Given the description of an element on the screen output the (x, y) to click on. 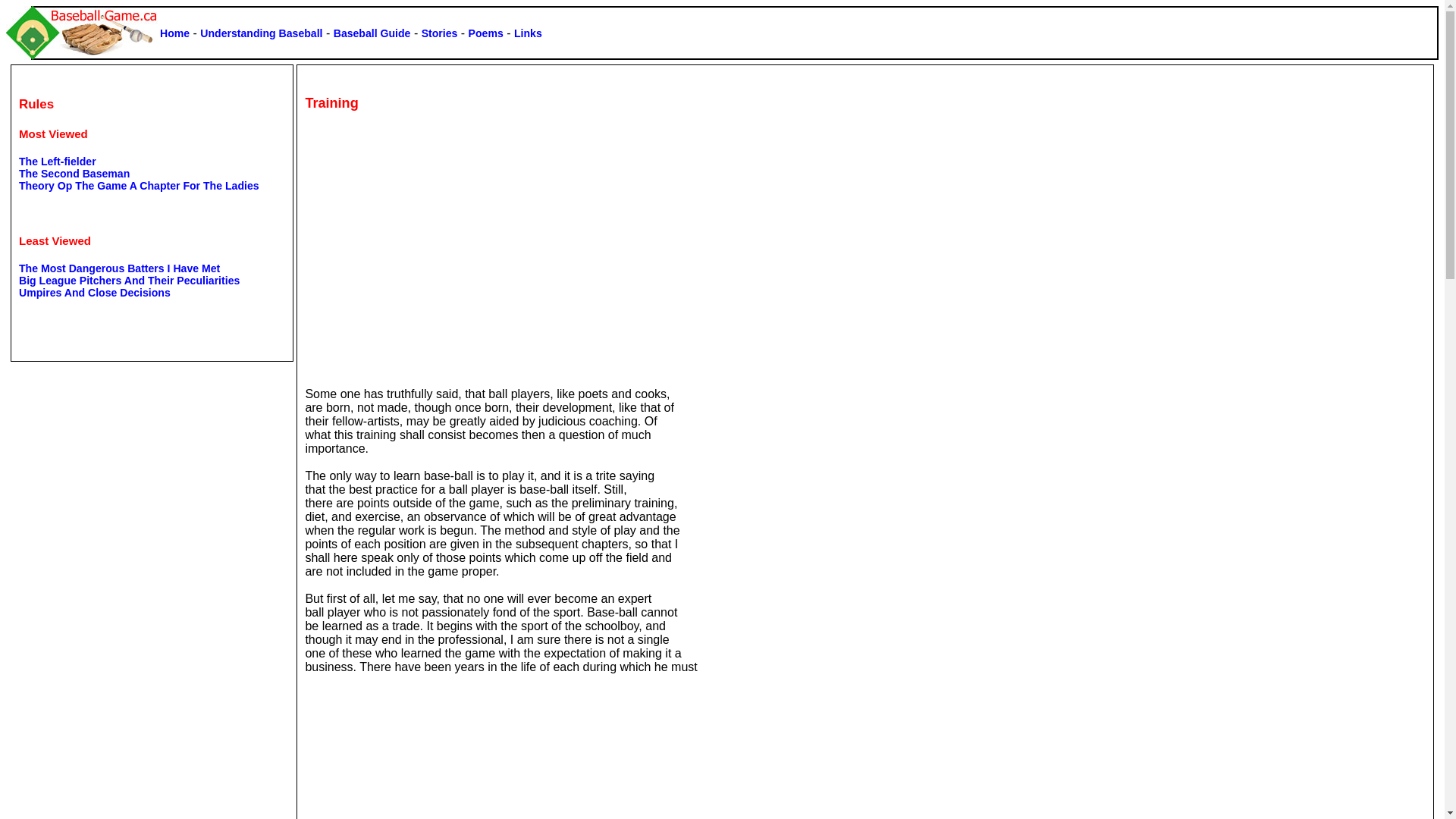
Understanding Baseball Element type: text (261, 33)
Theory Op The Game A Chapter For The Ladies Element type: text (138, 185)
Baseball Guide Element type: text (372, 33)
Big League Pitchers And Their Peculiarities Element type: text (128, 280)
Umpires And Close Decisions Element type: text (94, 292)
Poems Element type: text (485, 33)
Links Element type: text (528, 33)
The Second Baseman Element type: text (73, 173)
The Left-fielder Element type: text (57, 161)
Advertisement Element type: hover (431, 240)
Stories Element type: text (439, 33)
Home Element type: text (174, 33)
The Most Dangerous Batters I Have Met Element type: text (118, 268)
